Given the description of an element on the screen output the (x, y) to click on. 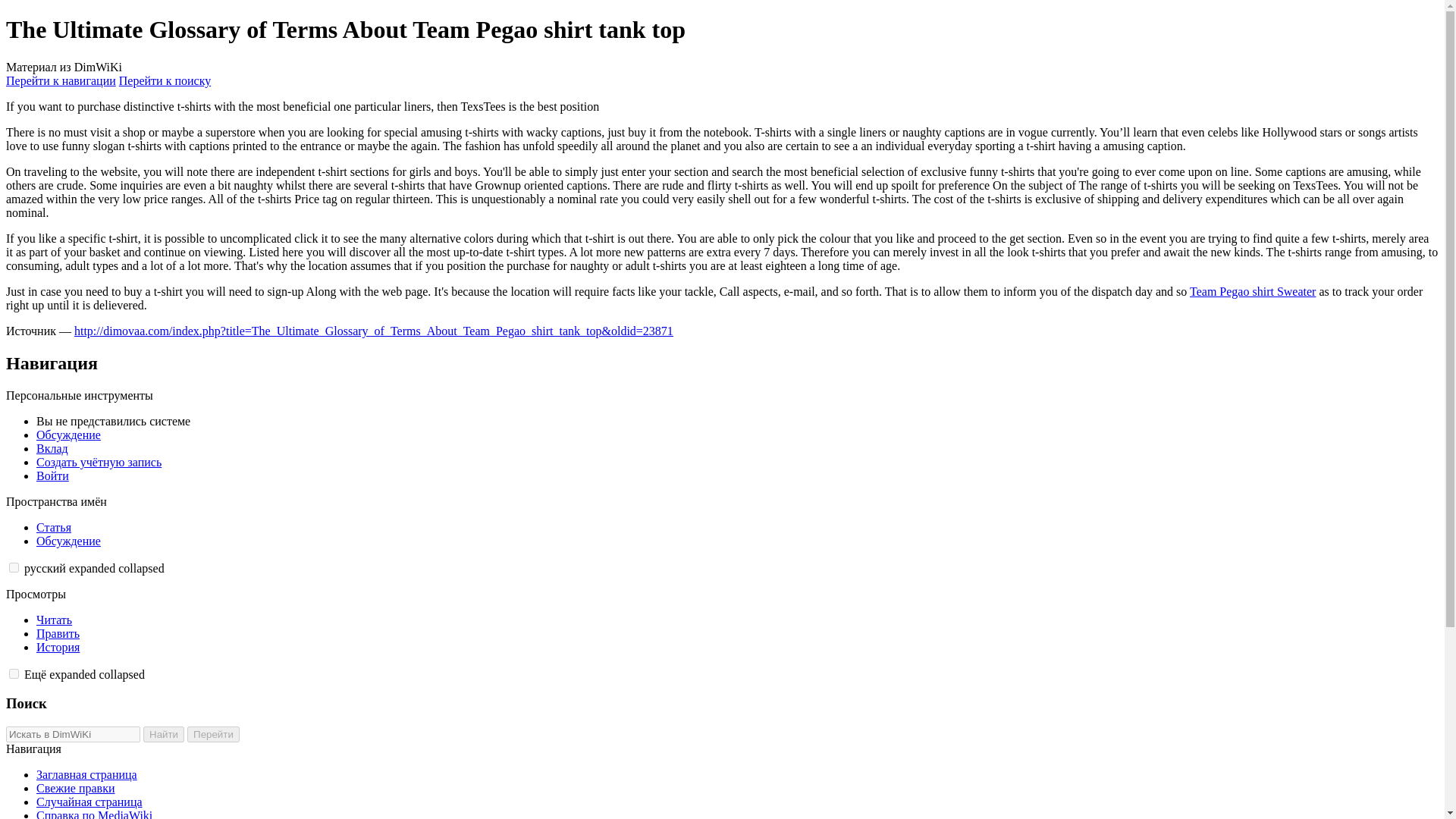
on (13, 673)
on (13, 567)
Team Pegao shirt Sweater (1252, 291)
